Given the description of an element on the screen output the (x, y) to click on. 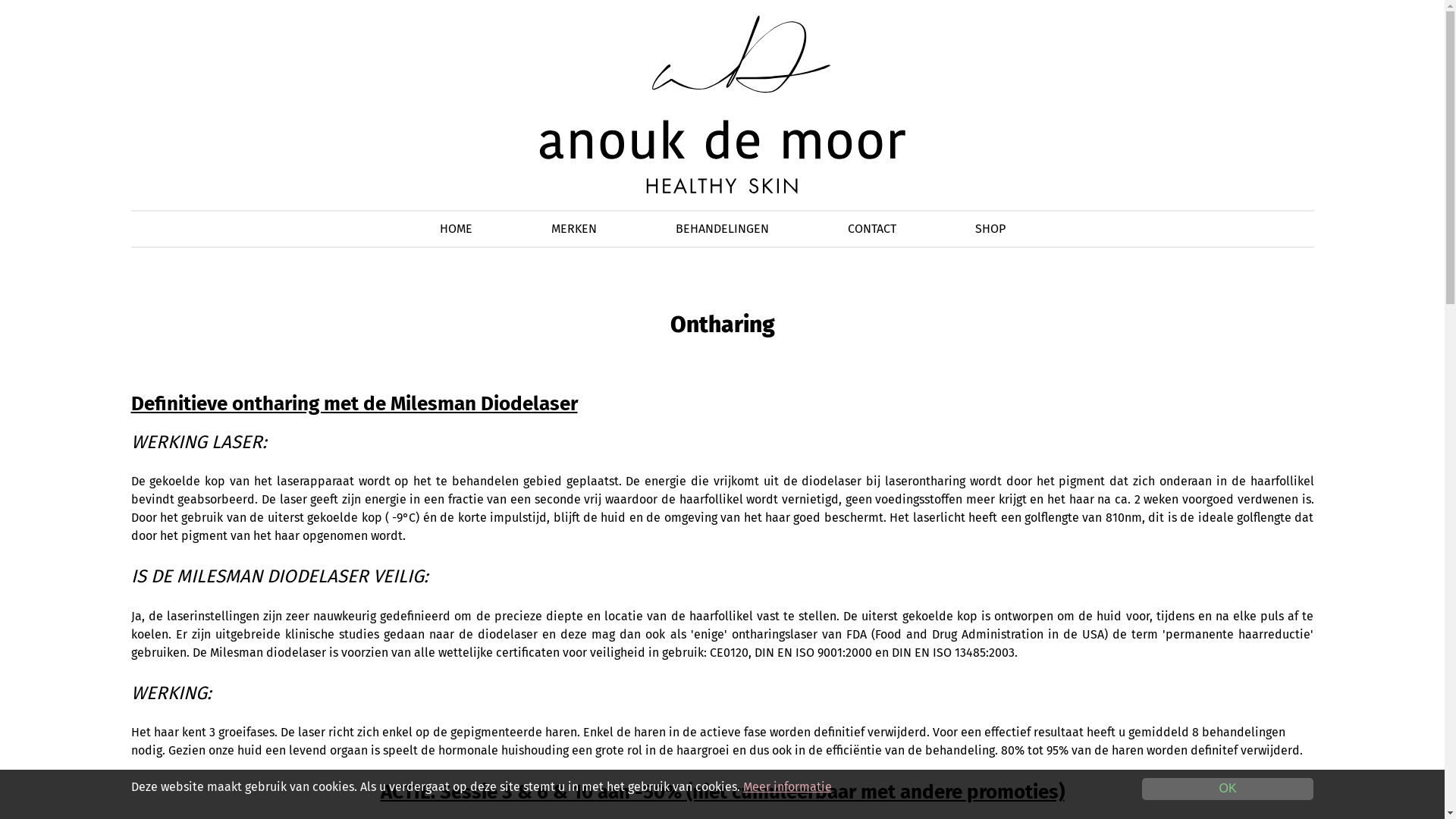
Anouk De Moor Website Element type: hover (722, 103)
CONTACT Element type: text (871, 228)
BEHANDELINGEN Element type: text (721, 228)
Meer informatie Element type: text (787, 786)
HOME Element type: text (455, 228)
MERKEN Element type: text (572, 228)
OK Element type: text (1228, 789)
SHOP Element type: text (990, 228)
